Given the description of an element on the screen output the (x, y) to click on. 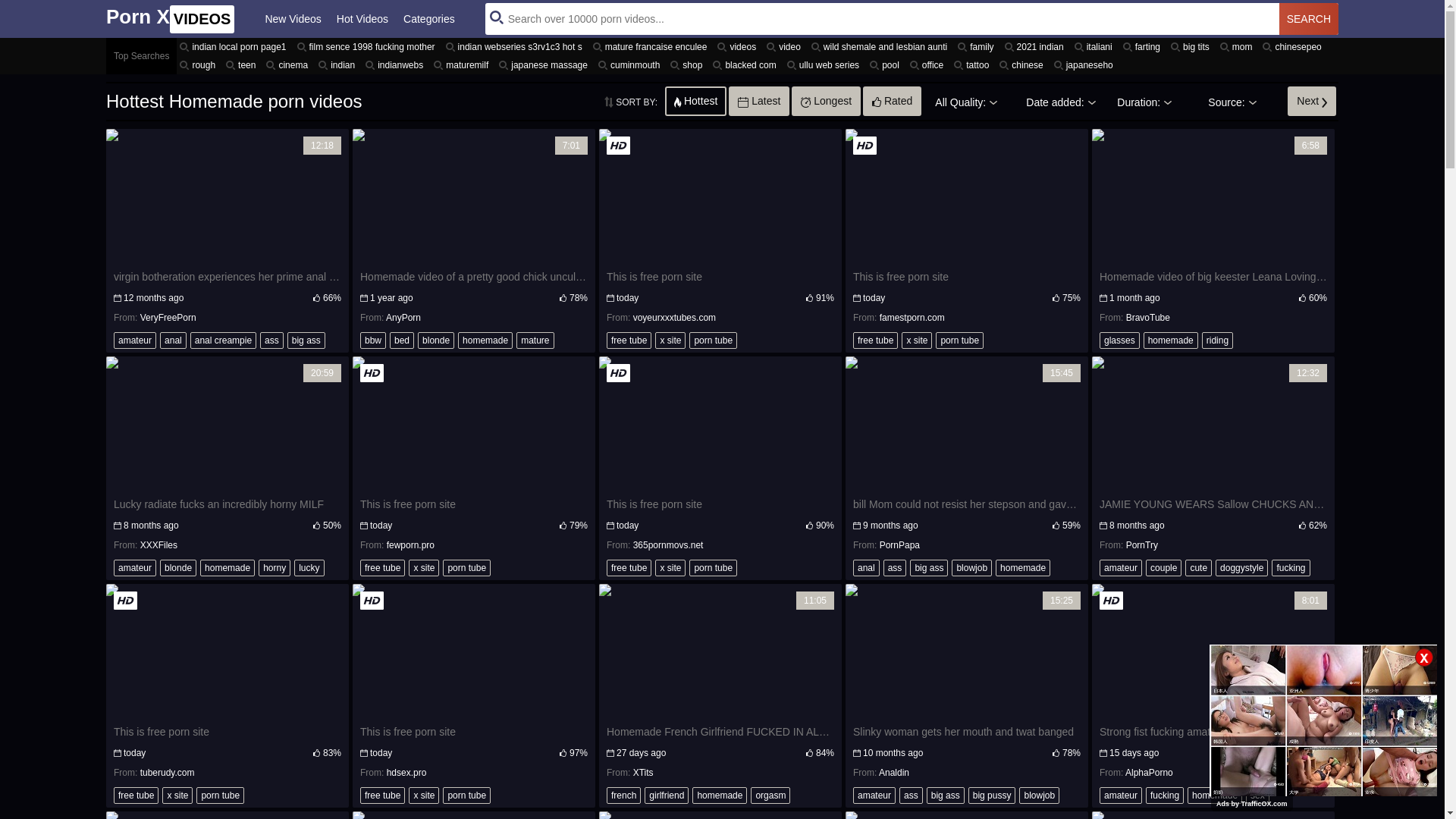
big ass Element type: text (306, 340)
free tube Element type: text (135, 795)
free tube Element type: text (875, 340)
mom Element type: text (1238, 46)
amateur Element type: text (1120, 567)
Hot Videos Element type: text (362, 18)
porn tube Element type: text (713, 567)
free tube Element type: text (382, 567)
amateur Element type: text (874, 795)
ullu web series Element type: text (825, 65)
homemade Element type: text (227, 567)
bbw Element type: text (372, 340)
ass Element type: text (271, 340)
orgasm Element type: text (770, 795)
french Element type: text (623, 795)
fucking Element type: text (1290, 567)
BravoTube Element type: text (1148, 317)
Ads by TrafficOX.com Element type: text (1251, 803)
porn tube Element type: text (713, 340)
porn tube Element type: text (220, 795)
x site Element type: text (670, 567)
japanese massage Element type: text (545, 65)
girlfriend Element type: text (666, 795)
chinesepeo Element type: text (1293, 46)
AnyPorn Element type: text (402, 317)
Hottest Element type: text (695, 100)
blacked com Element type: text (746, 65)
video Element type: text (785, 46)
365pornmovs.net Element type: text (668, 544)
pool Element type: text (886, 65)
glasses Element type: text (1119, 340)
amateur Element type: text (134, 340)
Rated Element type: text (891, 100)
rough Element type: text (199, 65)
hdsex.pro Element type: text (406, 772)
porn tube Element type: text (466, 795)
free tube Element type: text (628, 567)
film sence 1998 fucking mother Element type: text (368, 46)
This is free porn site
today
90% Element type: text (720, 445)
videos Element type: text (738, 46)
cute Element type: text (1198, 567)
New Videos Element type: text (292, 18)
free tube Element type: text (628, 340)
indianwebs Element type: text (396, 65)
blowjob Element type: text (971, 567)
doggystyle Element type: text (1241, 567)
XTits Element type: text (643, 772)
chinese Element type: text (1023, 65)
Longest Element type: text (825, 100)
wild shemale and lesbian aunti Element type: text (881, 46)
This is free porn site
today
75% Element type: text (966, 217)
teen Element type: text (242, 65)
This is free porn site
today
79% Element type: text (473, 445)
indian Element type: text (338, 65)
cuminmouth Element type: text (631, 65)
x site Element type: text (670, 340)
Analdin Element type: text (893, 772)
homemade Element type: text (719, 795)
riding Element type: text (1217, 340)
homemade Element type: text (485, 340)
x site Element type: text (423, 795)
2021 indian Element type: text (1036, 46)
Categories Element type: text (429, 18)
Latest Element type: text (758, 100)
sex Element type: text (1257, 795)
shop Element type: text (688, 65)
ass Element type: text (894, 567)
homemade Element type: text (1022, 567)
ass Element type: text (910, 795)
anal Element type: text (173, 340)
office Element type: text (928, 65)
PornPapa Element type: text (899, 544)
fewporn.pro Element type: text (410, 544)
x site Element type: text (916, 340)
blowjob Element type: text (1039, 795)
porn tube Element type: text (466, 567)
XXXFiles Element type: text (158, 544)
anal creampie Element type: text (223, 340)
tuberudy.com Element type: text (167, 772)
x site Element type: text (423, 567)
big ass Element type: text (945, 795)
bed Element type: text (401, 340)
This is free porn site
today
83% Element type: text (227, 672)
homemade Element type: text (1214, 795)
voyeurxxxtubes.com Element type: text (674, 317)
mature Element type: text (534, 340)
indian webseries s3rv1c3 hot s Element type: text (515, 46)
couple Element type: text (1163, 567)
amateur Element type: text (134, 567)
AlphaPorno Element type: text (1149, 772)
fucking Element type: text (1164, 795)
This is free porn site
today
97% Element type: text (473, 672)
farting Element type: text (1143, 46)
big tits Element type: text (1192, 46)
maturemilf Element type: text (462, 65)
lucky Element type: text (308, 567)
big ass Element type: text (928, 567)
famestporn.com Element type: text (911, 317)
homemade Element type: text (1170, 340)
PornTry Element type: text (1141, 544)
free tube Element type: text (382, 795)
blonde Element type: text (435, 340)
x site Element type: text (177, 795)
Porn X VIDEOS Element type: text (170, 18)
horny Element type: text (274, 567)
amateur Element type: text (1120, 795)
blonde Element type: text (178, 567)
anal Element type: text (866, 567)
SEARCH Element type: text (1308, 18)
family Element type: text (977, 46)
italiani Element type: text (1095, 46)
This is free porn site
today
91% Element type: text (720, 217)
Next Element type: text (1311, 100)
tattoo Element type: text (973, 65)
VeryFreePorn Element type: text (168, 317)
porn tube Element type: text (959, 340)
big pussy Element type: text (992, 795)
indian local porn page1 Element type: text (234, 46)
mature francaise enculee Element type: text (652, 46)
japaneseho Element type: text (1085, 65)
cinema Element type: text (289, 65)
